Given the description of an element on the screen output the (x, y) to click on. 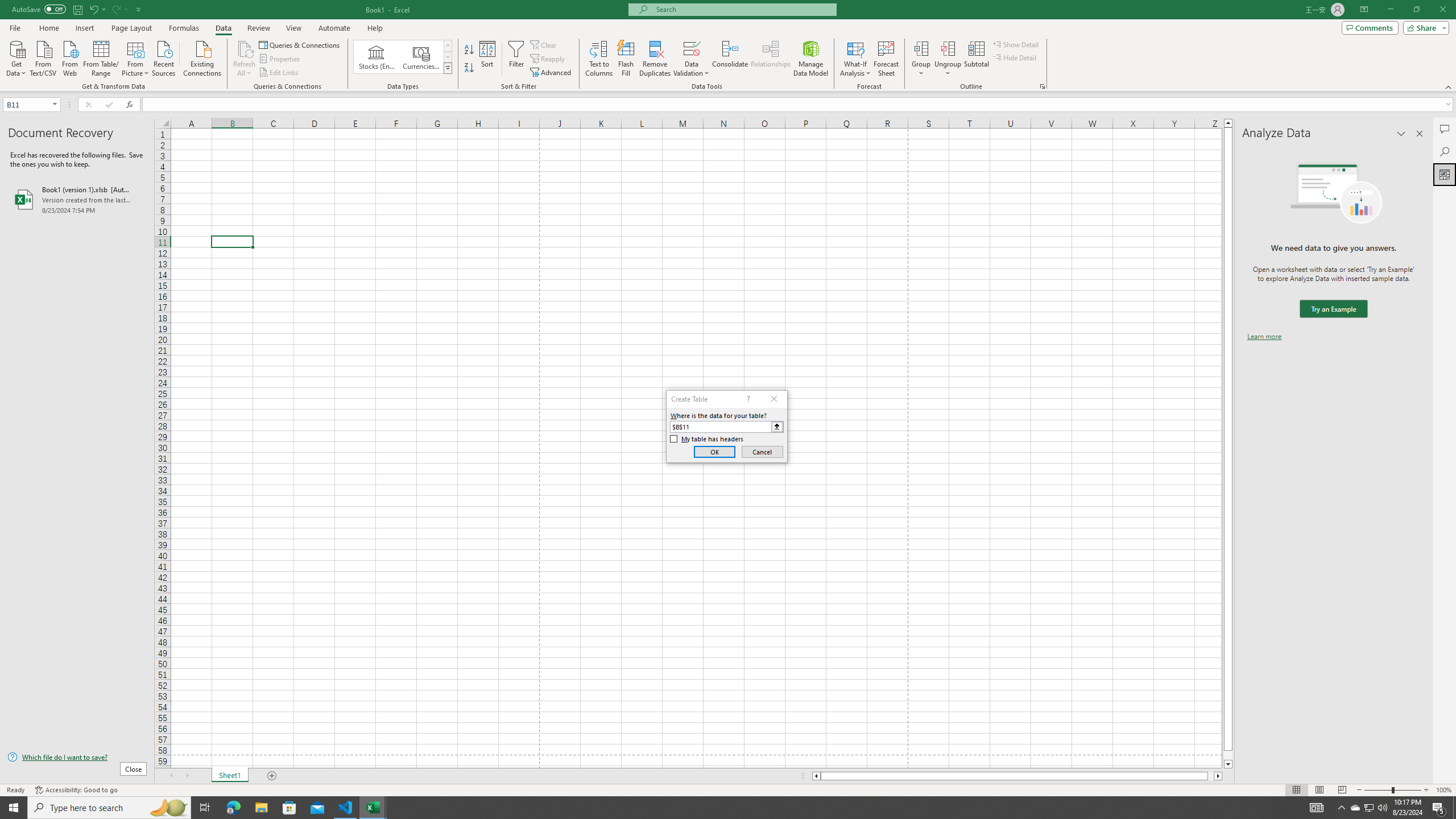
Which file do I want to save? (77, 757)
